Given the description of an element on the screen output the (x, y) to click on. 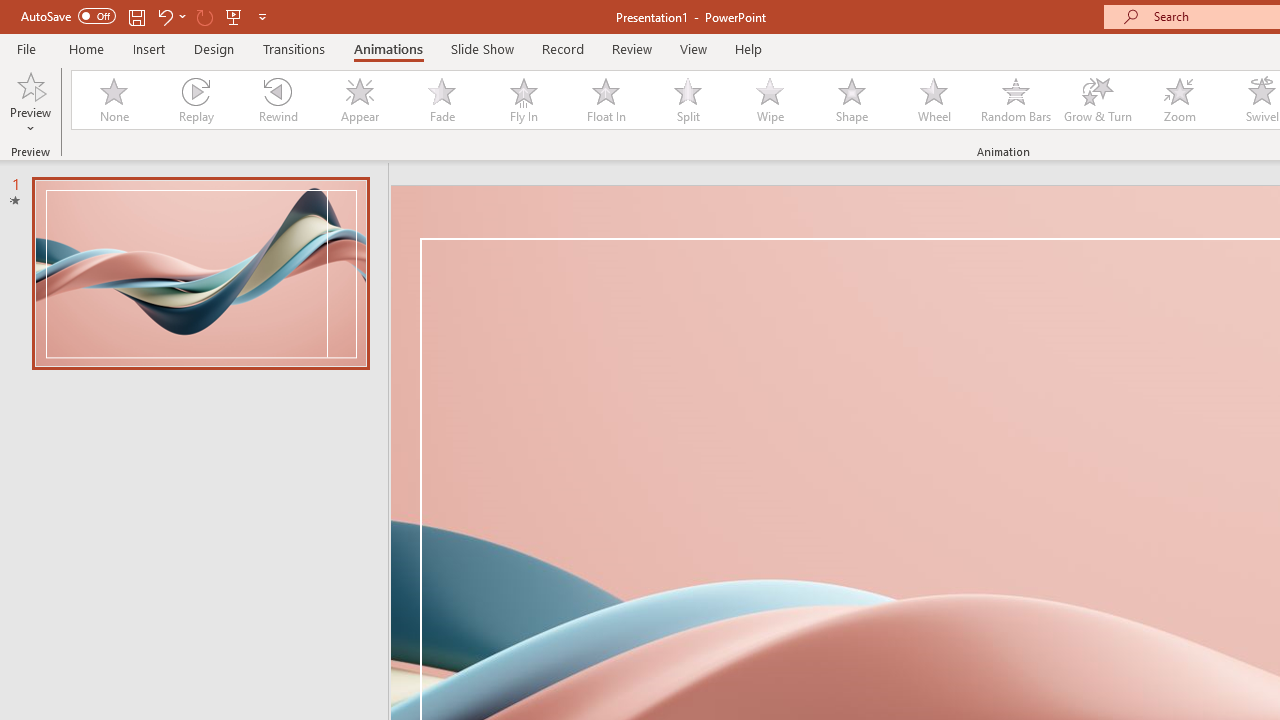
Float In (605, 100)
Fly In (523, 100)
Replay (195, 100)
Wheel (934, 100)
Rewind (277, 100)
